Given the description of an element on the screen output the (x, y) to click on. 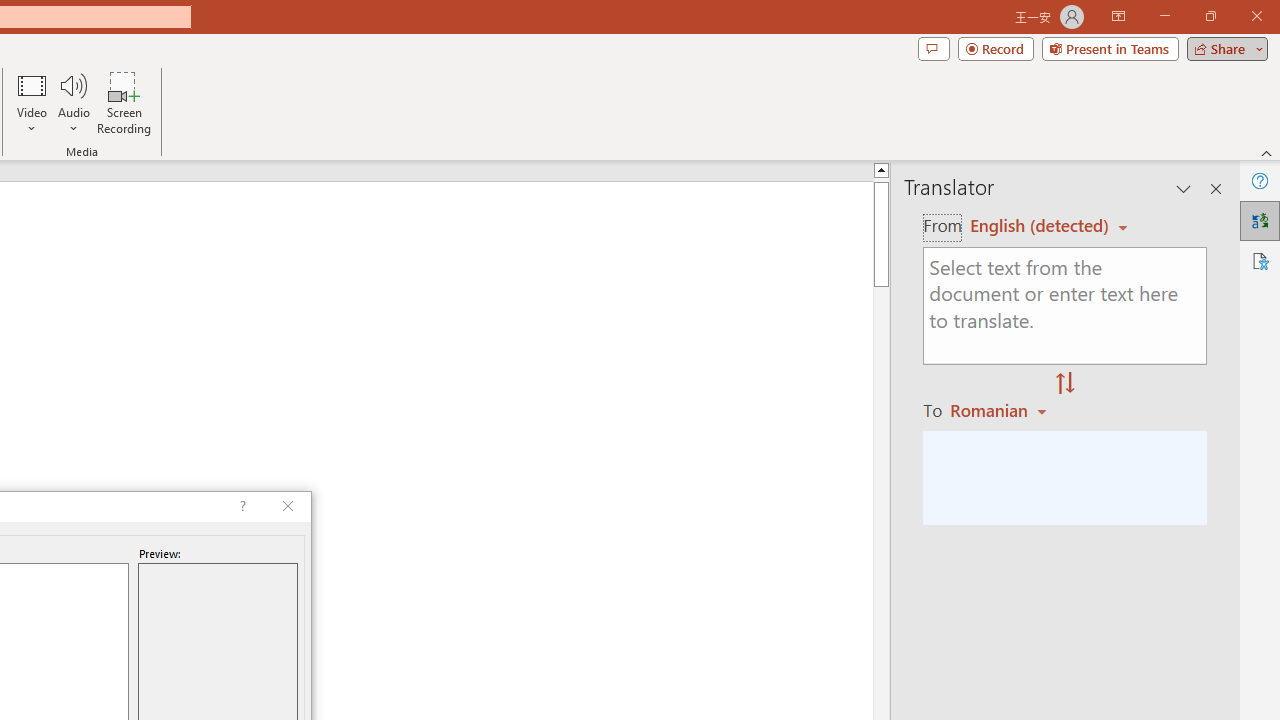
Context help (240, 506)
Screen Recording... (123, 102)
Czech (detected) (1039, 225)
Romanian (1001, 409)
Video (31, 102)
